Given the description of an element on the screen output the (x, y) to click on. 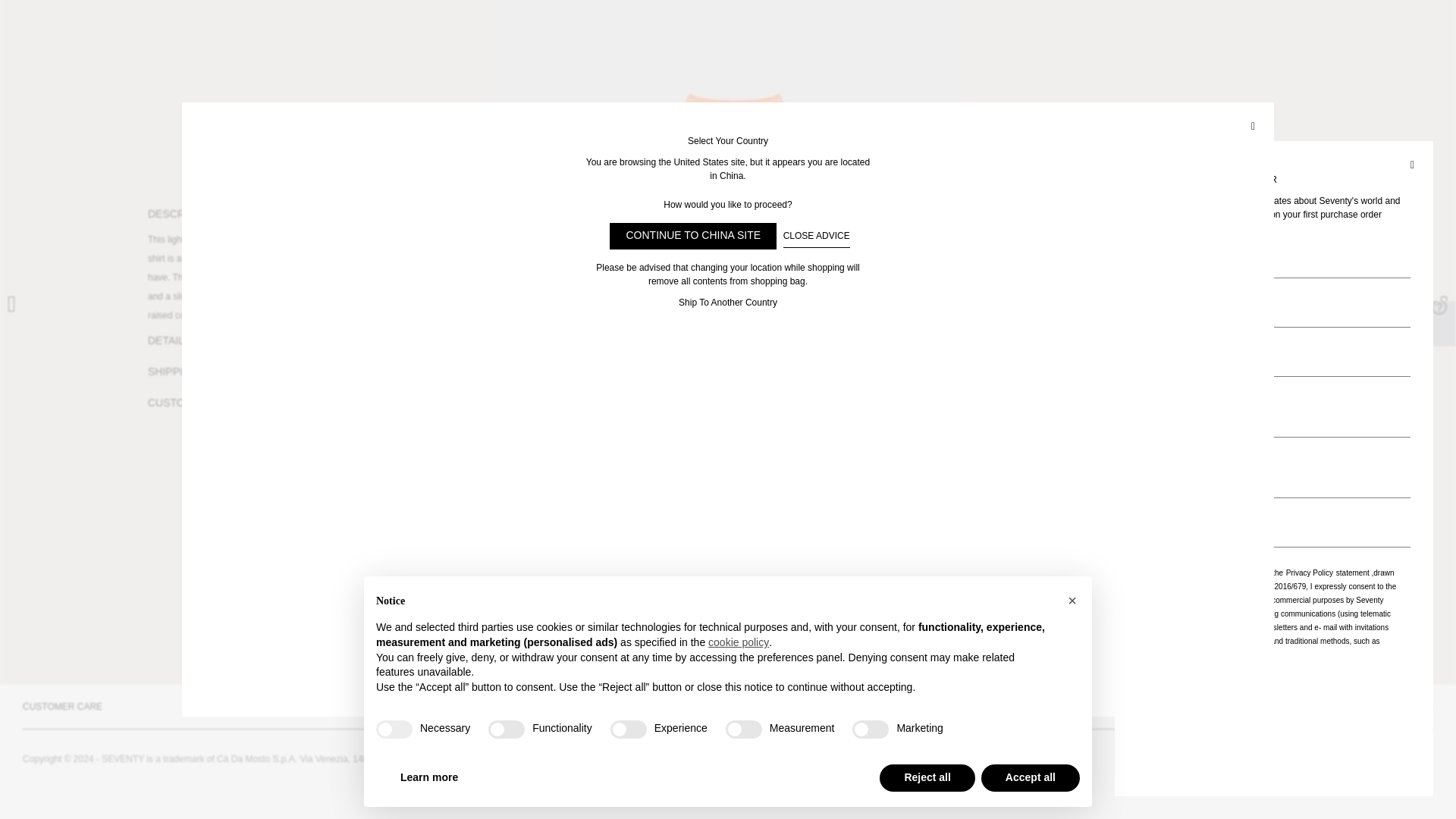
on (1143, 256)
true (393, 411)
false (505, 411)
false (869, 411)
false (743, 411)
Learn more (428, 459)
false (628, 411)
Reject all (926, 459)
cookie policy (737, 324)
Accept all (1030, 459)
Add to Cart (1197, 406)
